Given the description of an element on the screen output the (x, y) to click on. 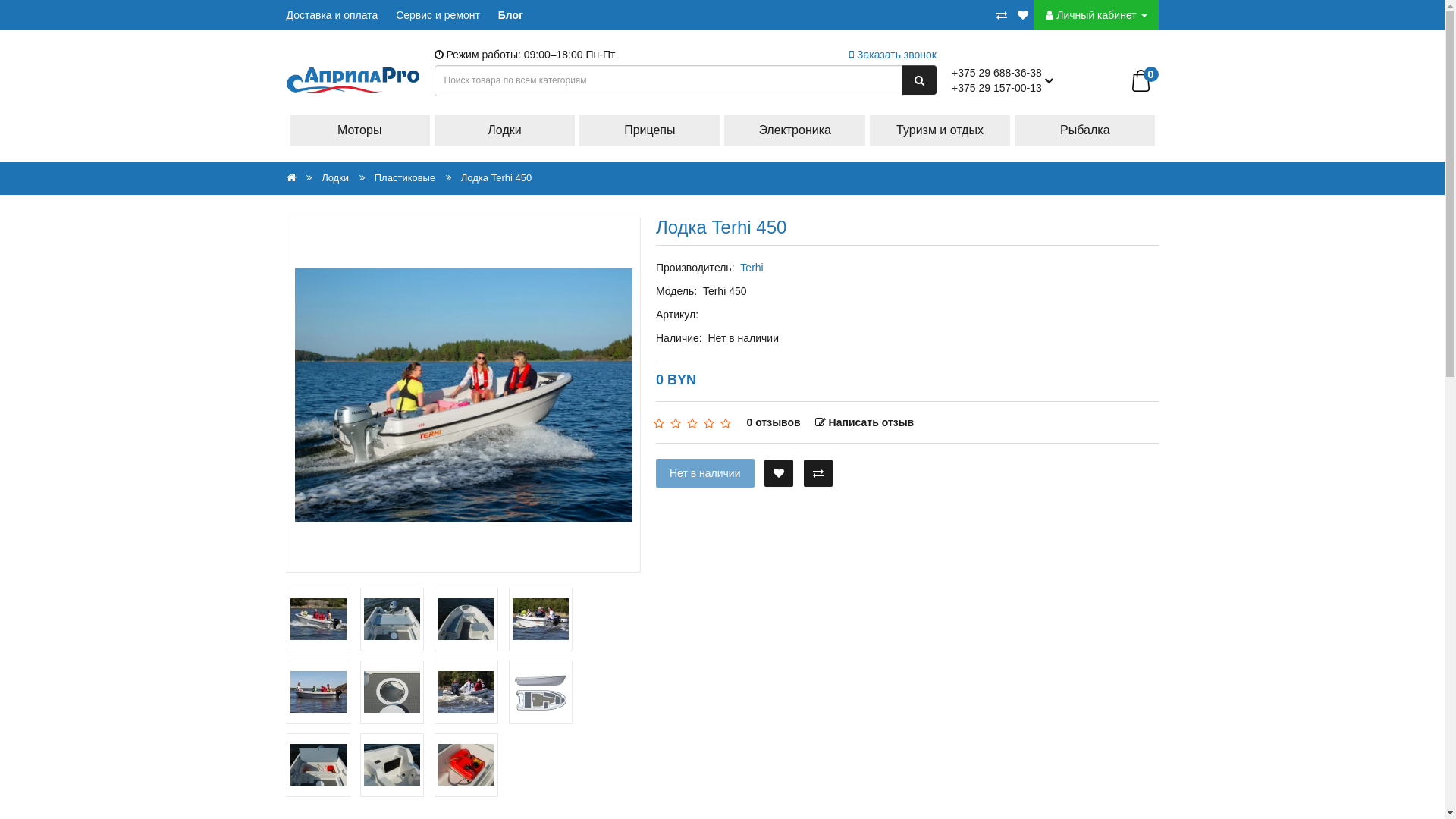
0 Element type: text (1139, 80)
Terhi Element type: text (751, 267)
